Given the description of an element on the screen output the (x, y) to click on. 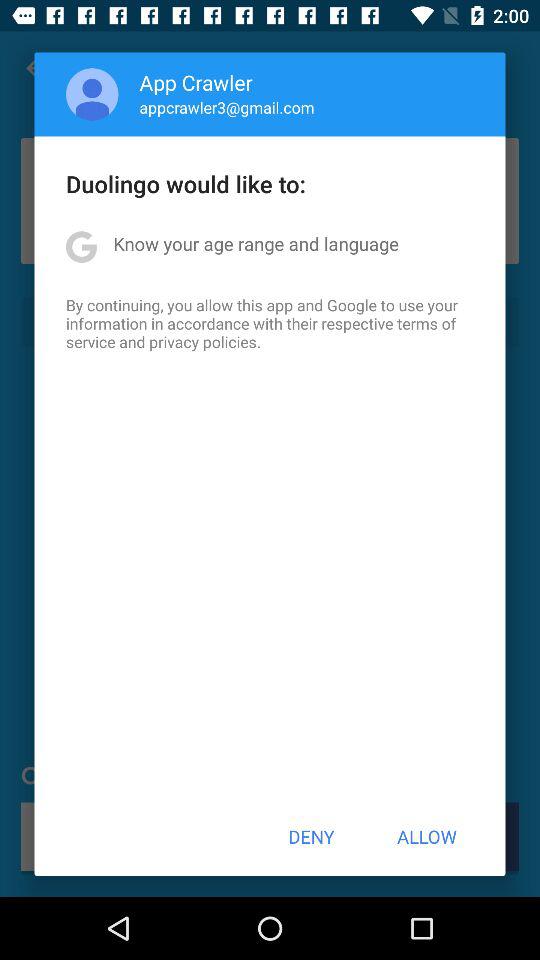
flip until know your age (255, 243)
